Given the description of an element on the screen output the (x, y) to click on. 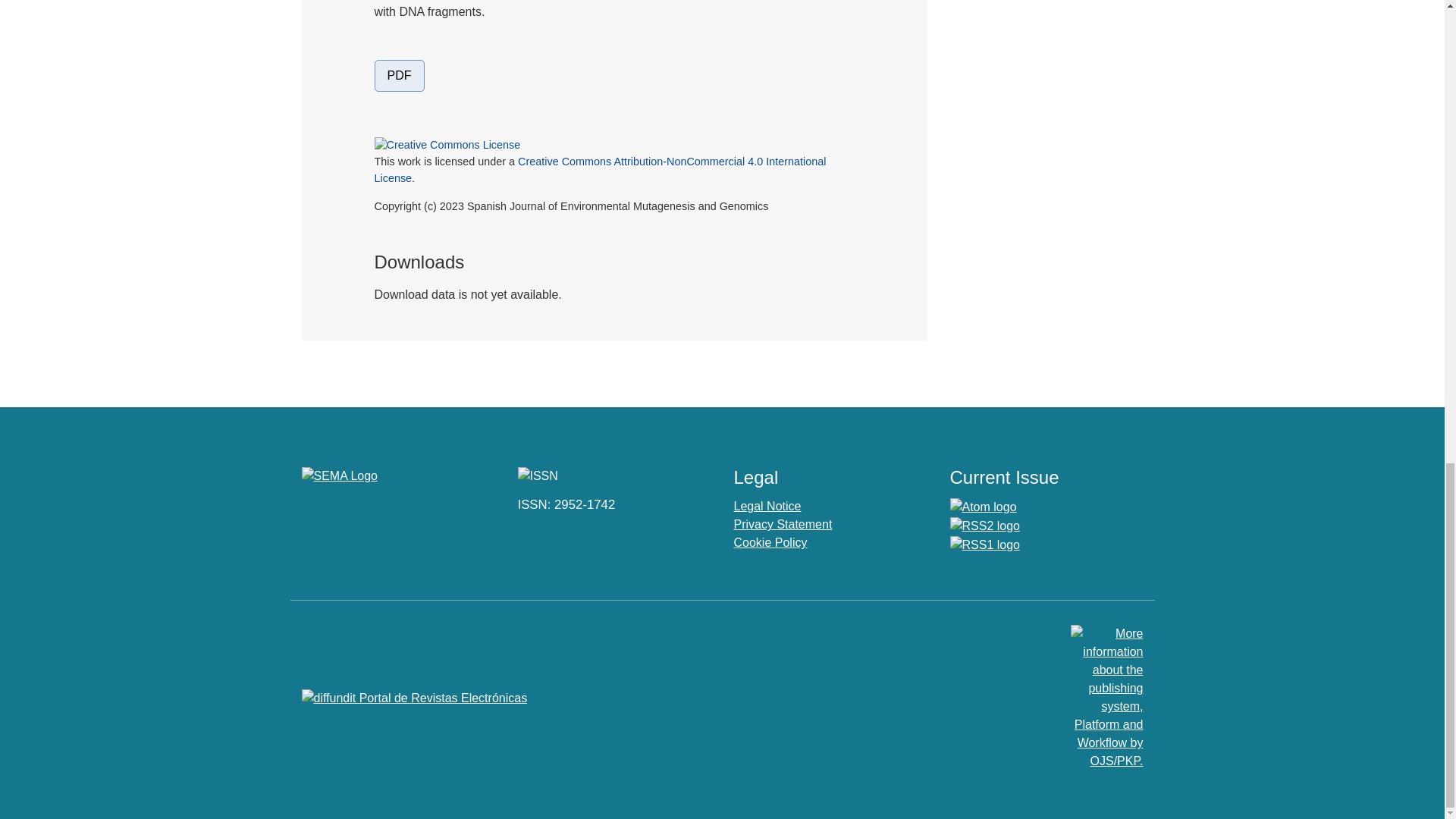
PDF (399, 75)
Cookie Policy (770, 542)
Privacy Statement (782, 523)
Legal Notice (767, 505)
